Given the description of an element on the screen output the (x, y) to click on. 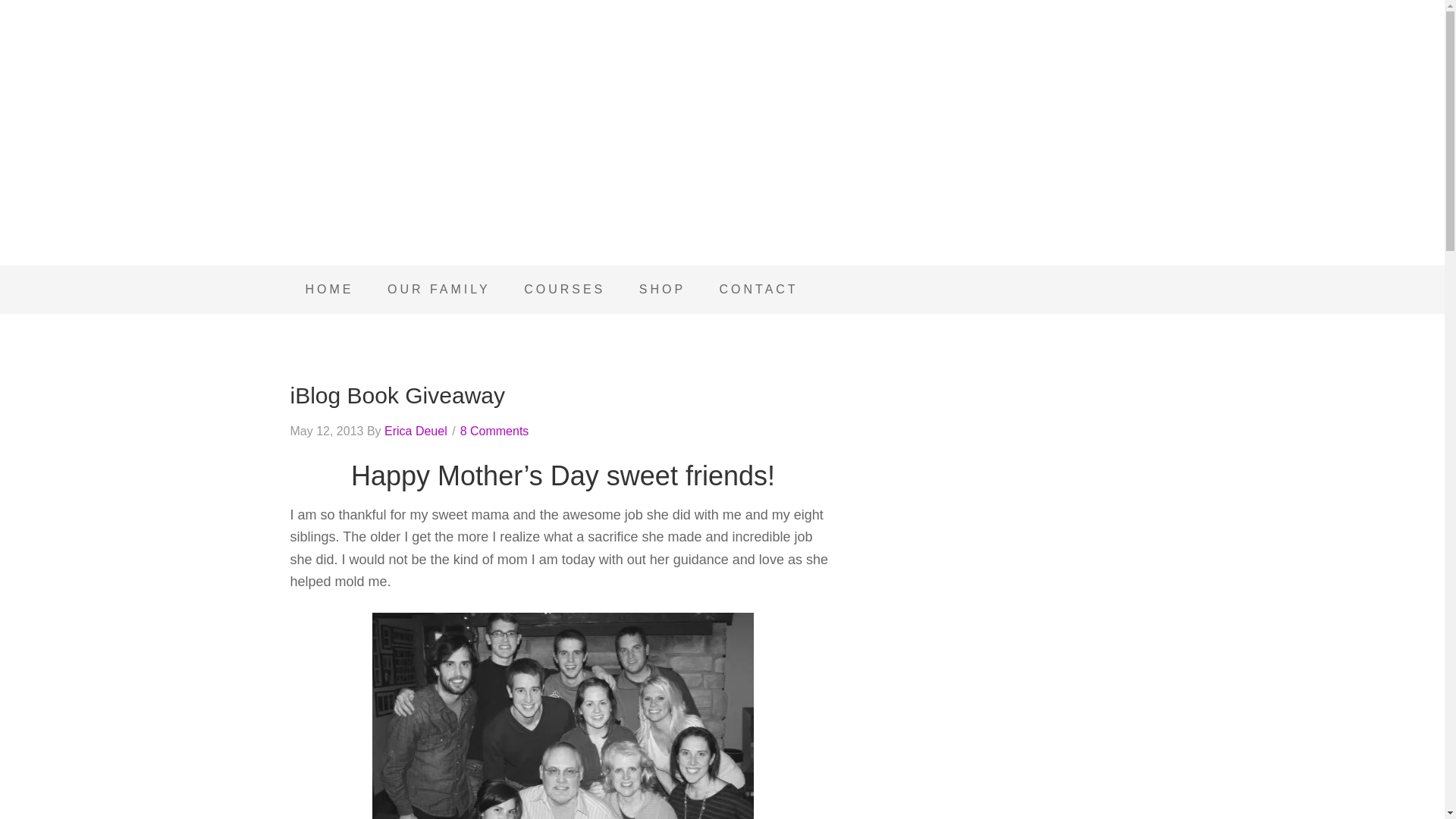
8 Comments (494, 431)
SHOP (662, 289)
COURSES (564, 289)
iBlog Book Giveaway (396, 395)
Erica Deuel (415, 431)
HOME (328, 289)
CONTACT (757, 289)
OUR FAMILY (438, 289)
